Given the description of an element on the screen output the (x, y) to click on. 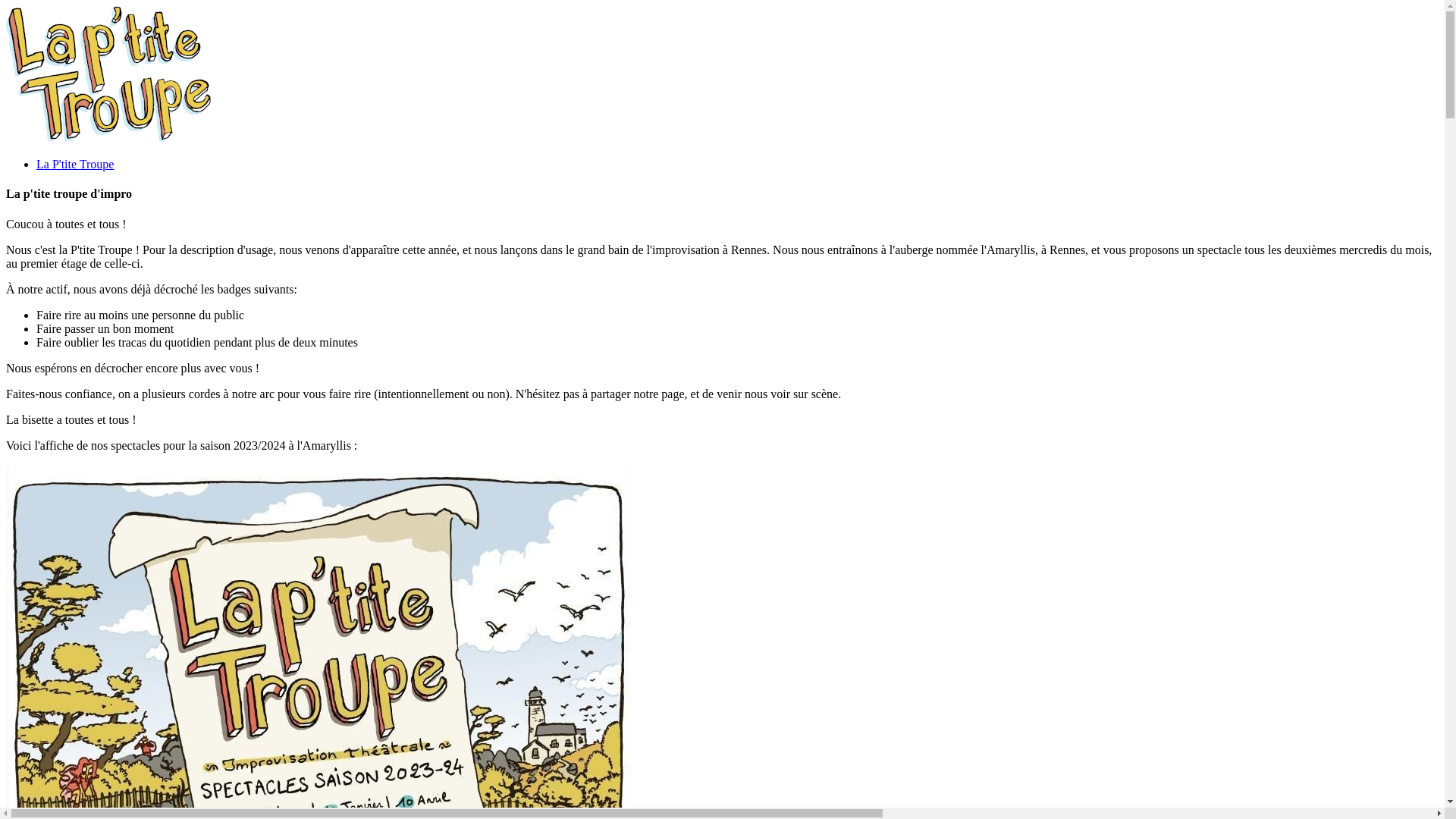
La P'tite Troupe Element type: text (74, 163)
